Given the description of an element on the screen output the (x, y) to click on. 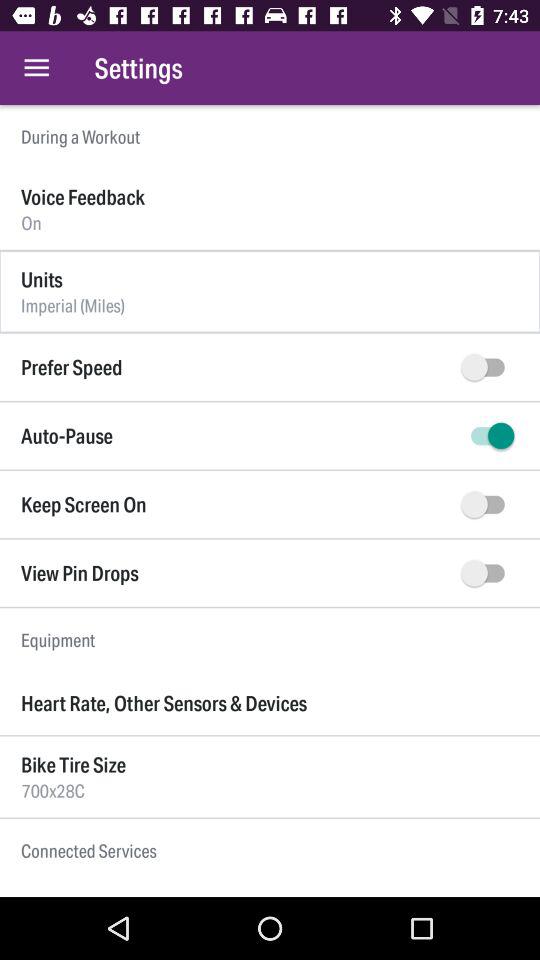
toggle auto-pause option (487, 435)
